Given the description of an element on the screen output the (x, y) to click on. 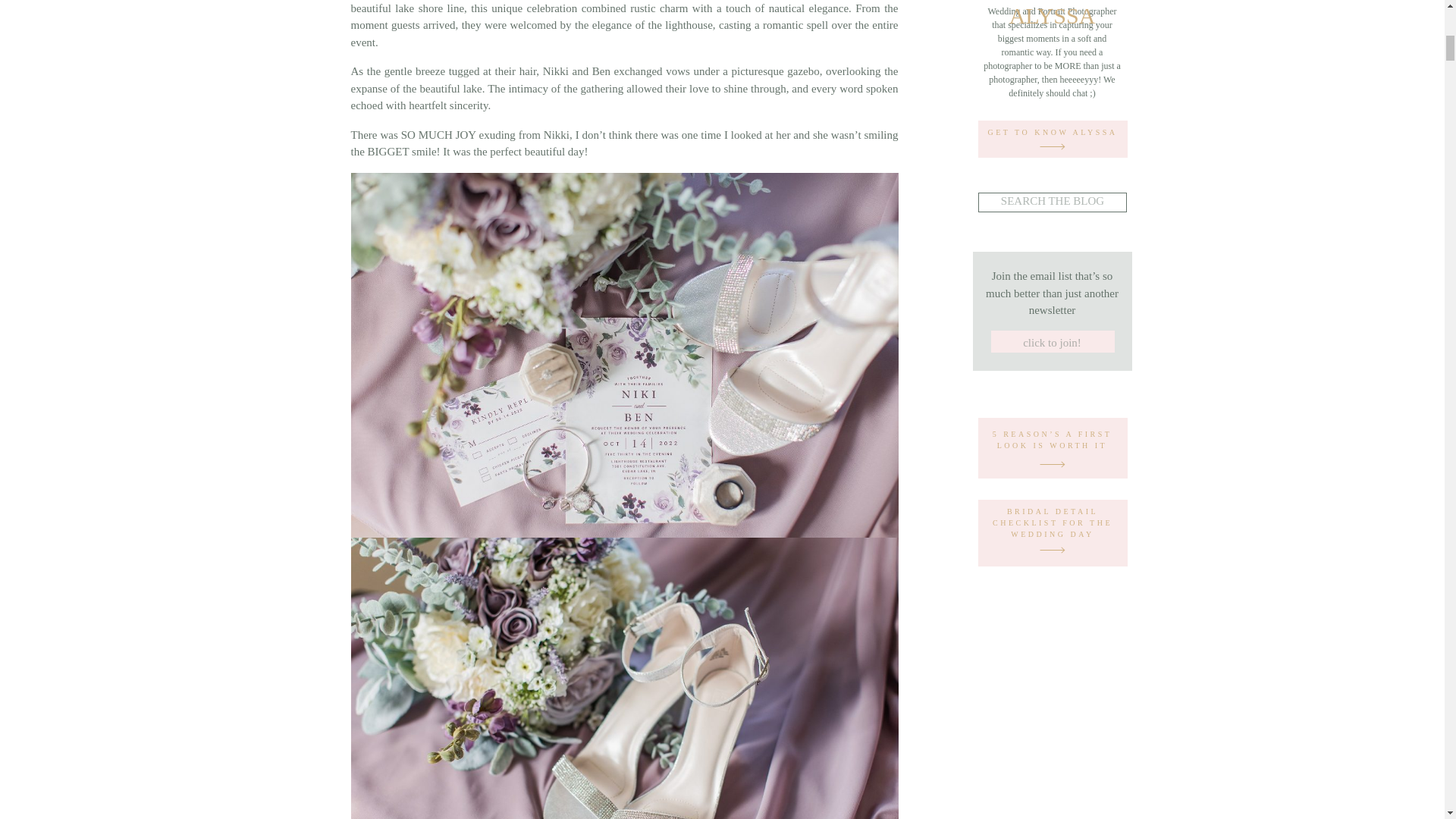
BRIDAL DETAIL CHECKLIST FOR THE WEDDING DAY (1052, 515)
GET TO KNOW ALYSSA (1052, 136)
